Given the description of an element on the screen output the (x, y) to click on. 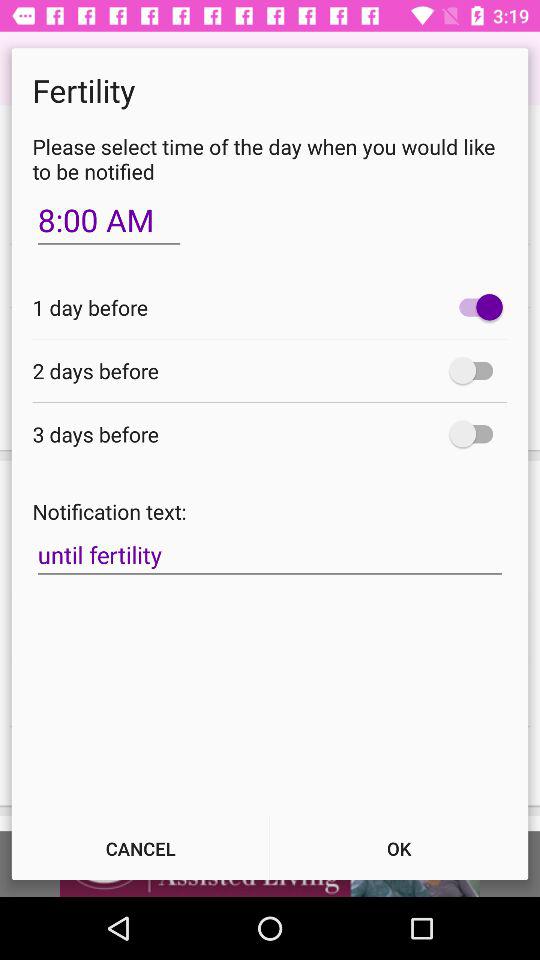
tap icon at the top right corner (476, 307)
